Given the description of an element on the screen output the (x, y) to click on. 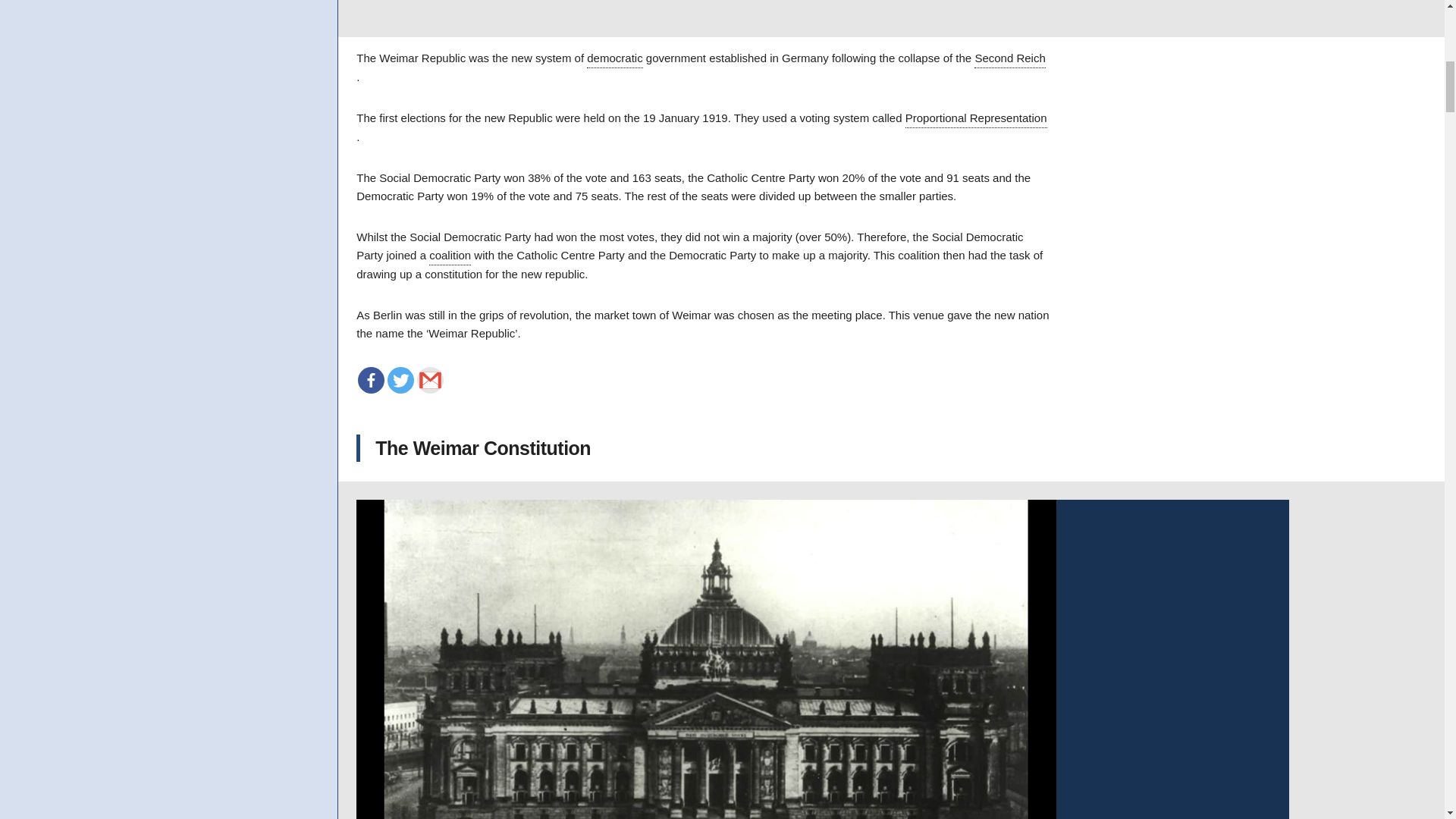
Google Gmail (430, 379)
Facebook (371, 379)
Twitter (400, 379)
A temporary union of political parties. (449, 255)
